Given the description of an element on the screen output the (x, y) to click on. 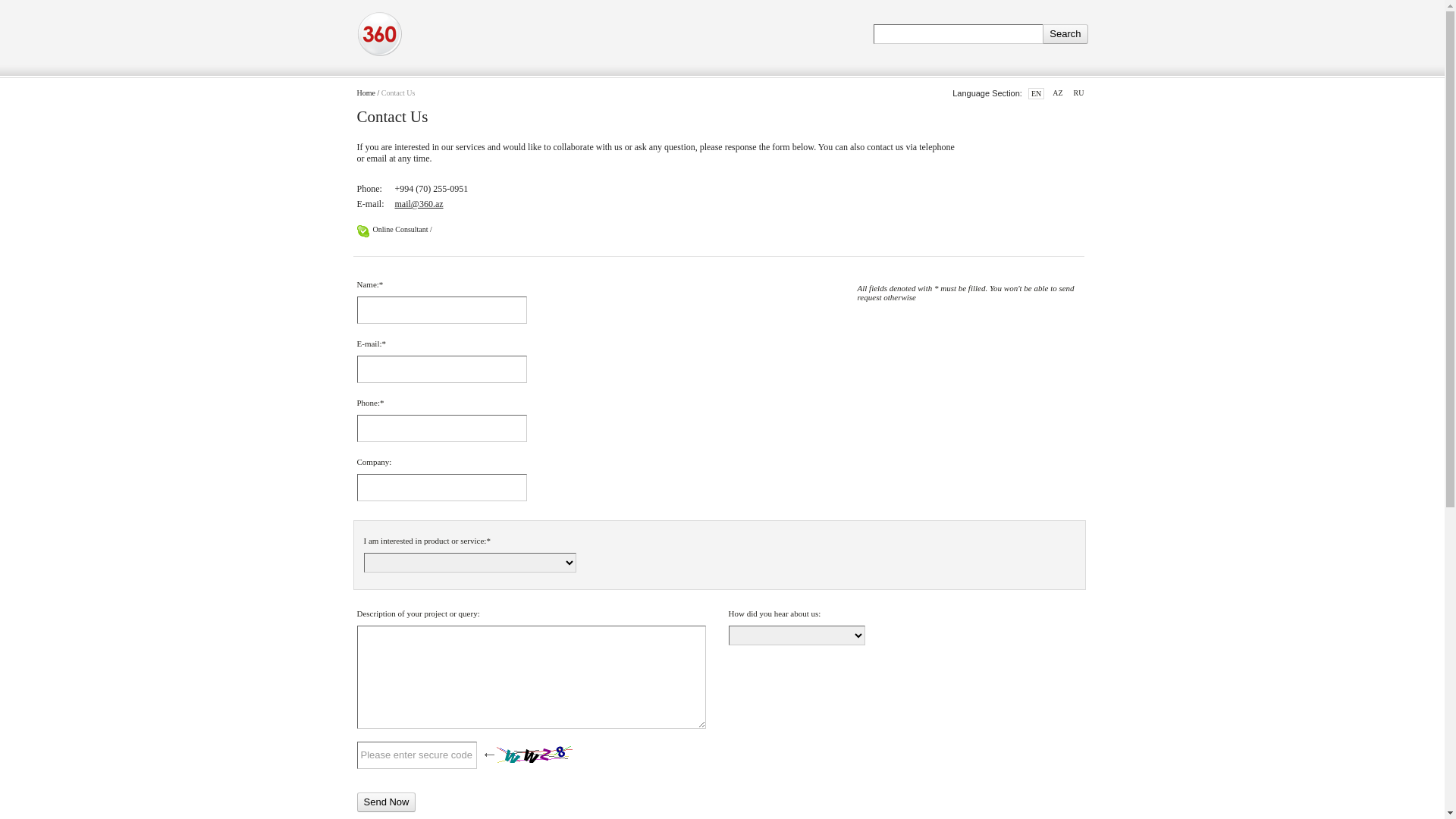
RU Element type: text (1078, 92)
EN Element type: text (1036, 93)
Search Element type: text (1064, 33)
Send Now Element type: text (385, 801)
Online Consultant Element type: text (400, 229)
AZ Element type: text (1057, 92)
Home Element type: text (365, 92)
mail@360.az Element type: text (418, 203)
